Given the description of an element on the screen output the (x, y) to click on. 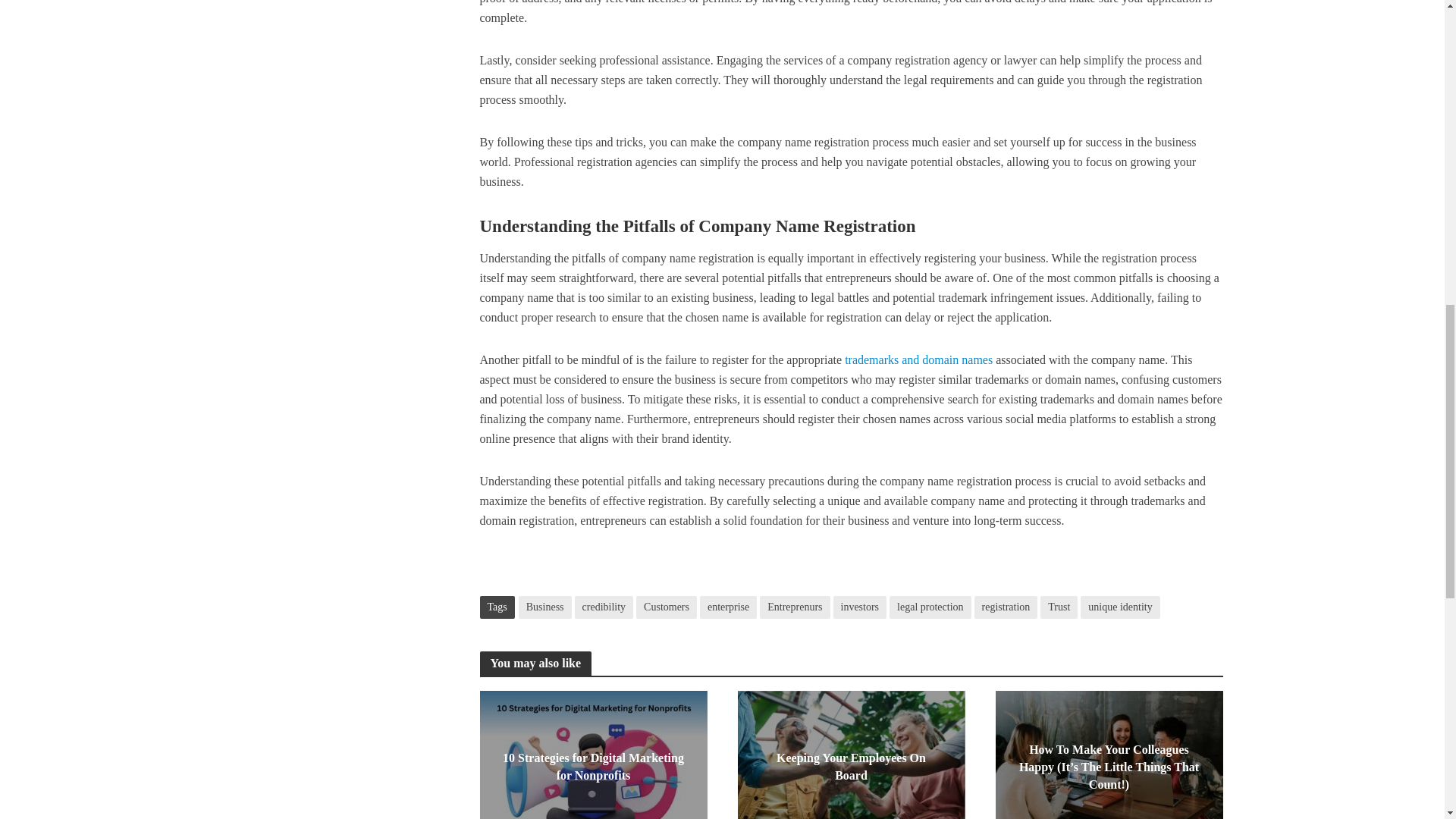
Keeping Your Employees On Board (849, 764)
10 Strategies for Digital Marketing for Nonprofits (592, 764)
